Given the description of an element on the screen output the (x, y) to click on. 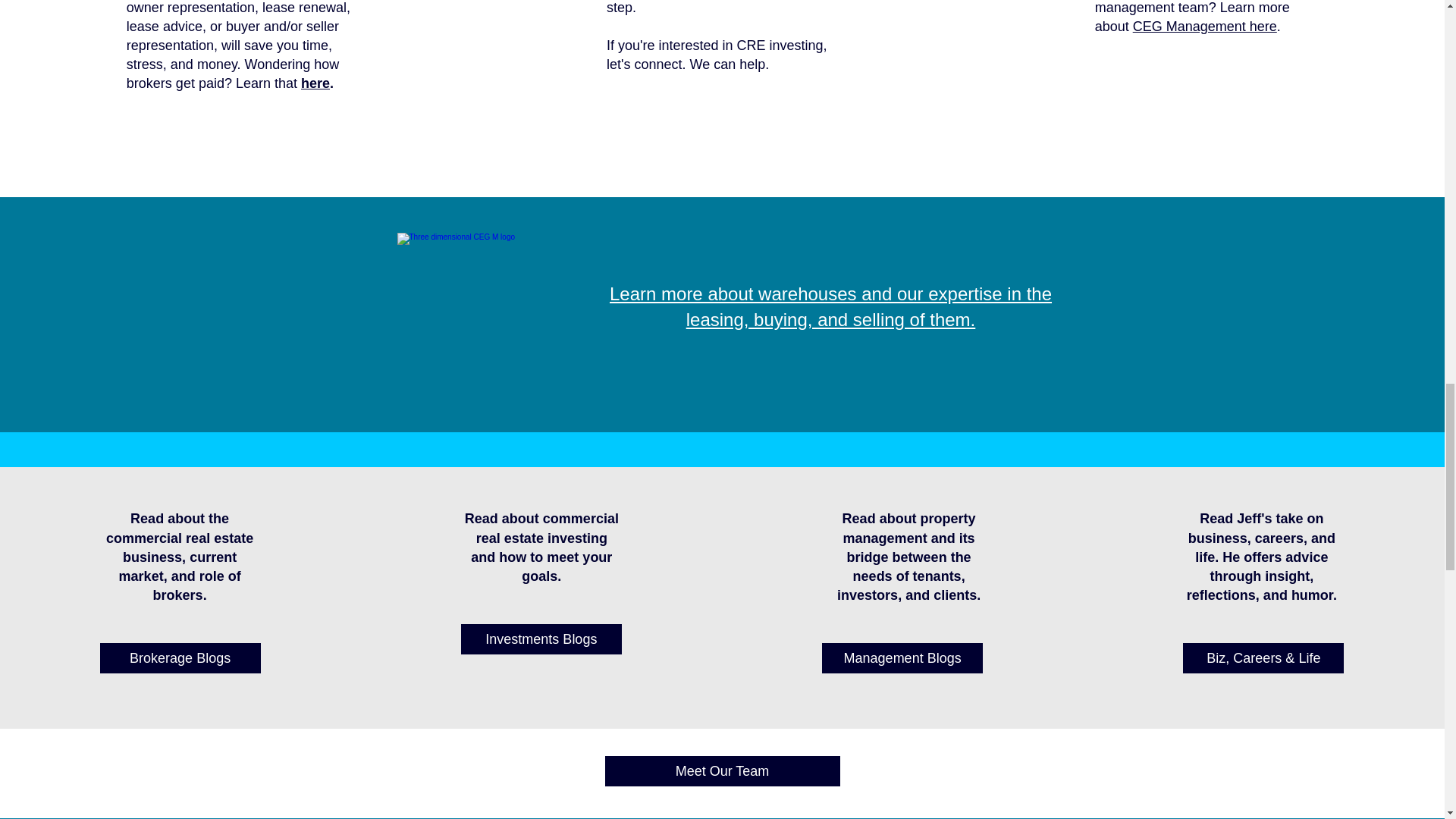
Brokerage Blogs (180, 657)
Meet Our Team (722, 770)
Investments Blogs (541, 639)
CEG Management here (1204, 26)
here (315, 83)
Management Blogs (902, 657)
